Given the description of an element on the screen output the (x, y) to click on. 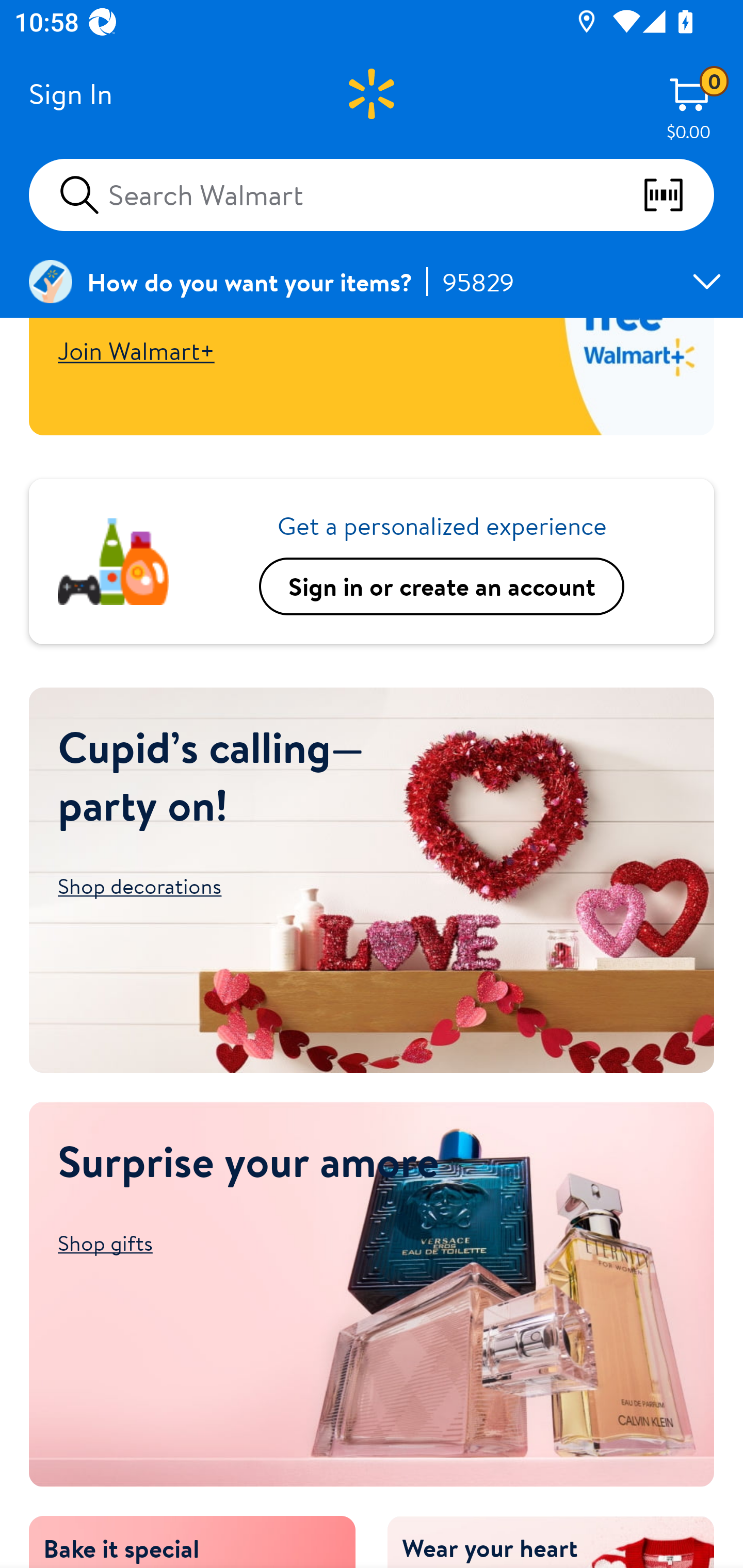
Sign In (70, 93)
Search Walmart scan barcodes qr codes and more (371, 194)
scan barcodes qr codes and more (677, 195)
Sign in or create an account (441, 586)
Shop gifts Shop gifts Surprise your amore (248, 1242)
